Given the description of an element on the screen output the (x, y) to click on. 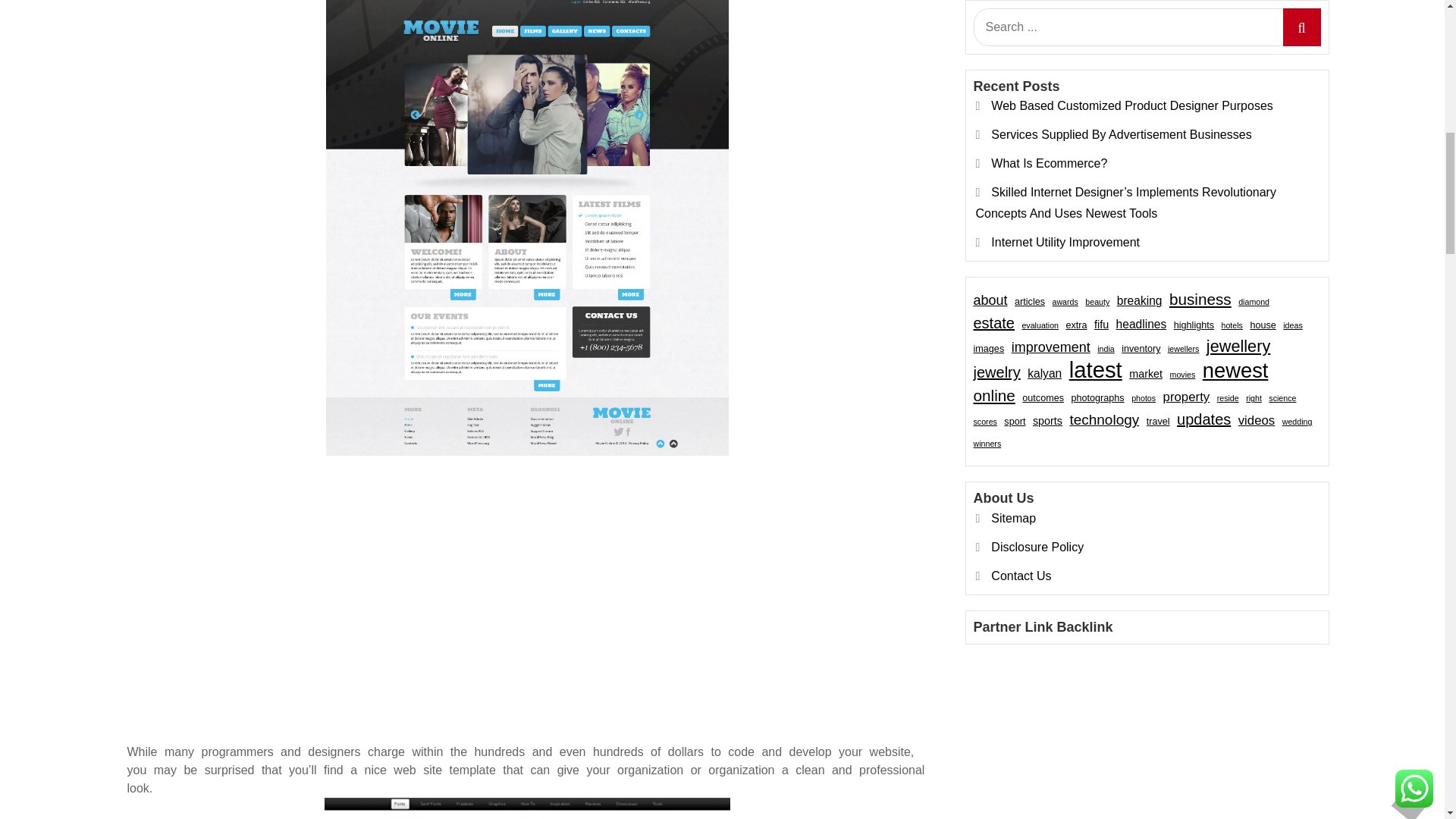
awards (1065, 100)
beauty (1096, 100)
images (989, 147)
Internet Utility Improvement (1065, 41)
house (1262, 124)
extra (1075, 124)
diamond (1254, 100)
improvement (1050, 146)
about (990, 98)
hotels (1231, 124)
headlines (1141, 123)
business (1200, 97)
estate (994, 121)
ideas (1291, 124)
evaluation (1040, 124)
